Given the description of an element on the screen output the (x, y) to click on. 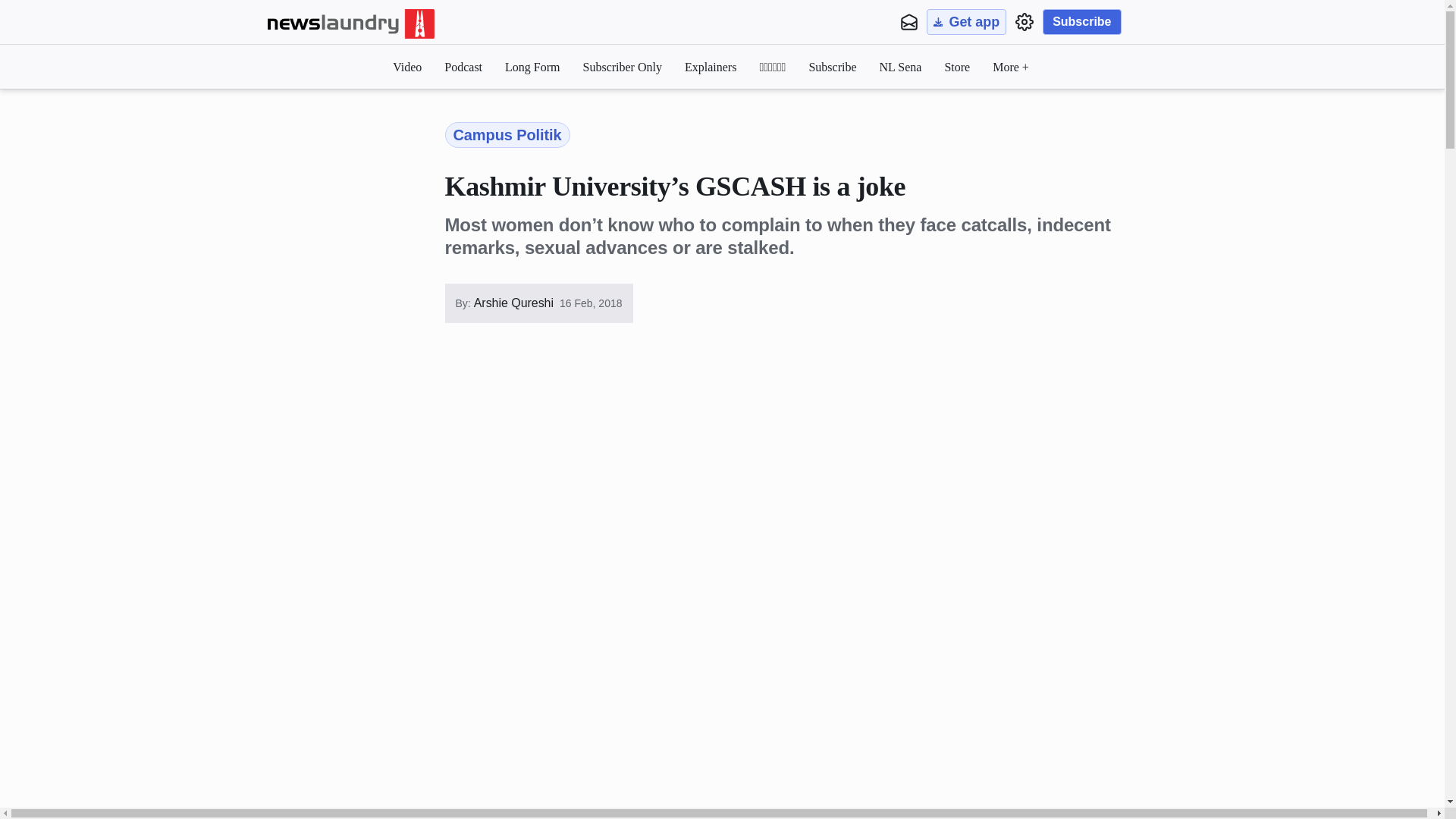
Video (407, 66)
2018-02-16 13:50 (591, 303)
Explainers (710, 66)
Campus Politik (506, 134)
Get app (966, 22)
Subscribe (832, 66)
Arshie Qureshi (511, 303)
Long Form (532, 66)
Subscriber Only (622, 66)
NL Sena (900, 66)
